Given the description of an element on the screen output the (x, y) to click on. 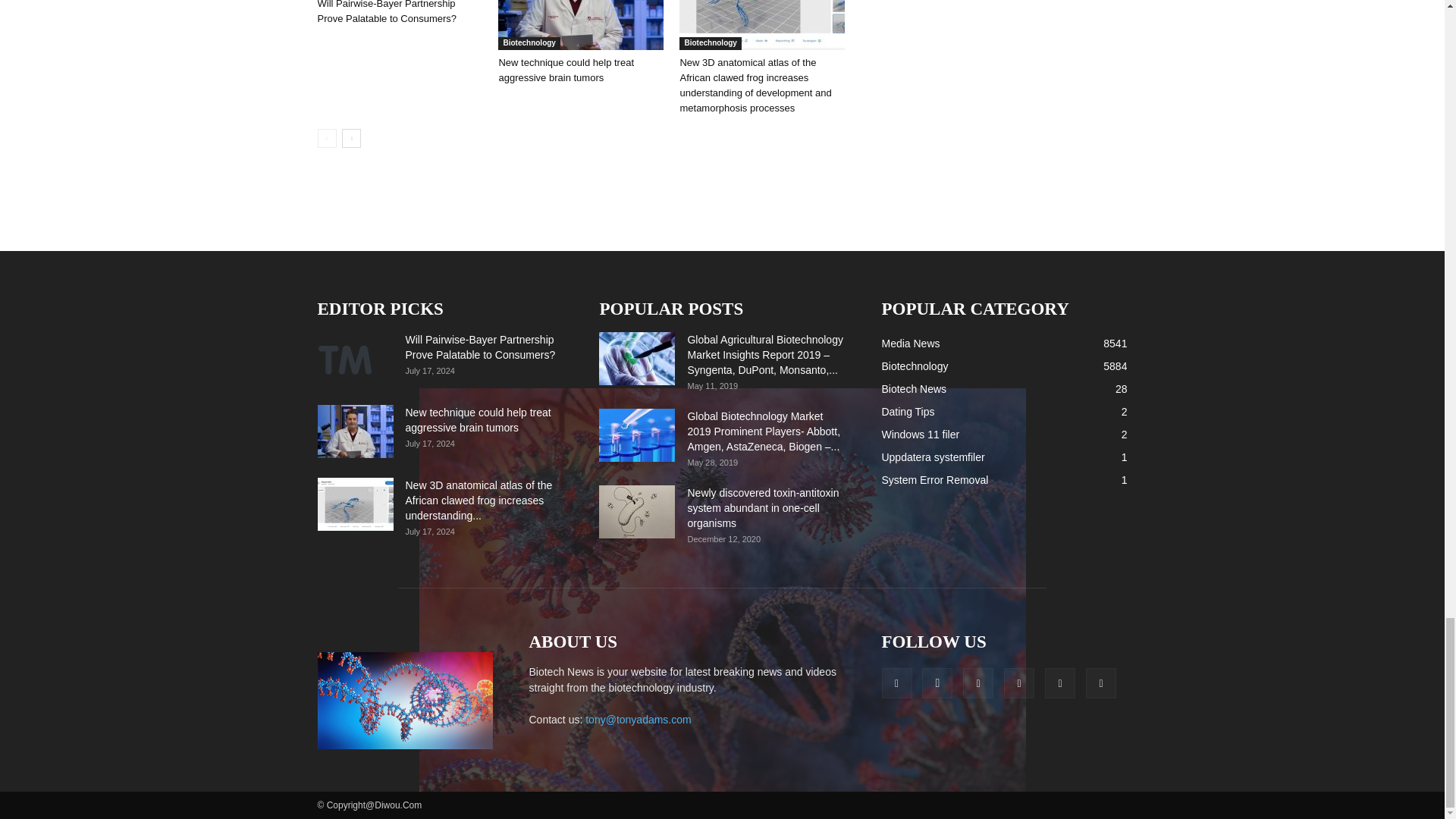
New technique could help treat aggressive brain tumors (580, 24)
New technique could help treat aggressive brain tumors (565, 69)
